Given the description of an element on the screen output the (x, y) to click on. 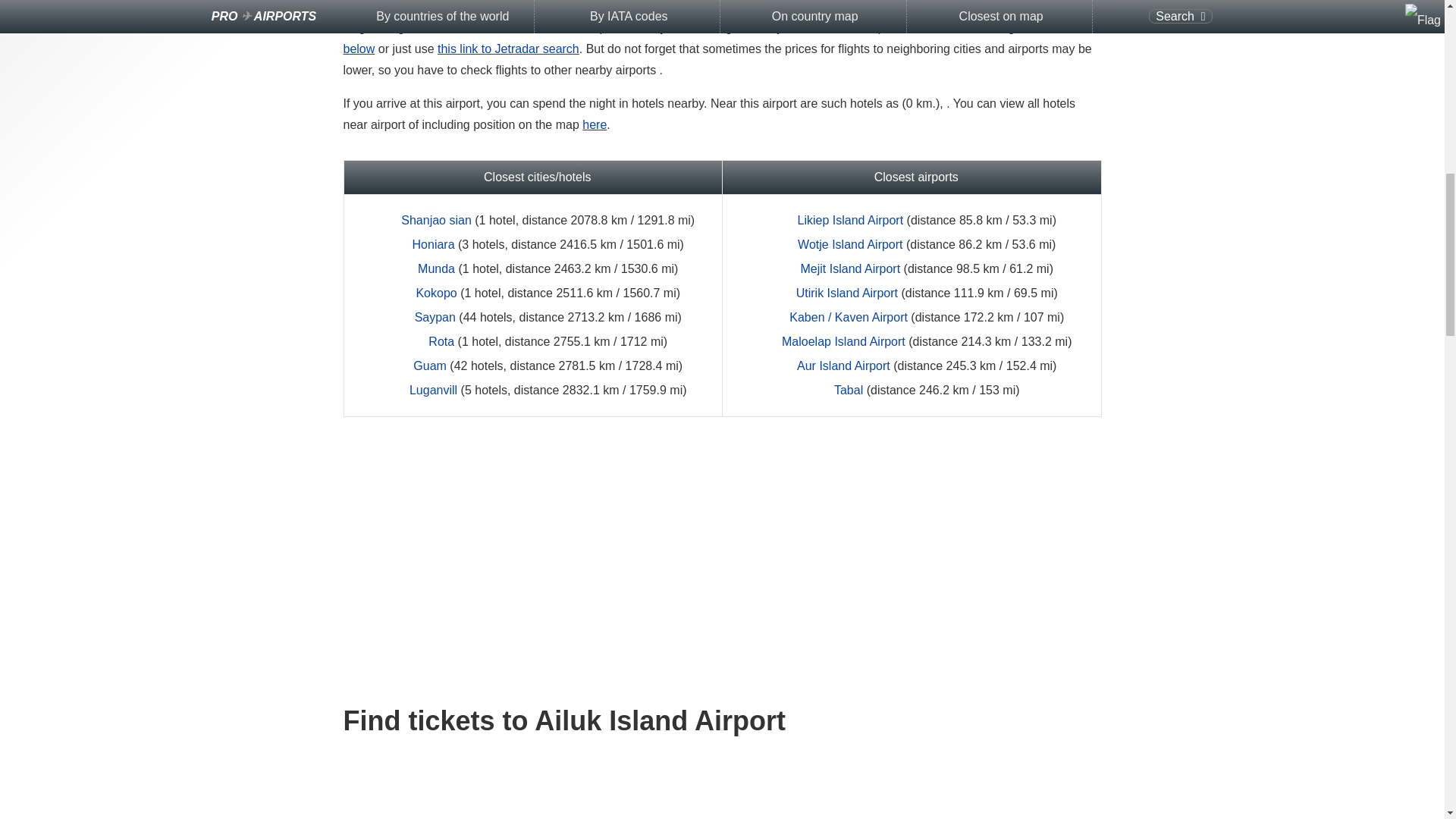
Likiep Island Airport (850, 219)
Utirik Island Airport (847, 292)
Saypan (434, 317)
Wotje Island Airport (849, 244)
Rota (441, 341)
Kokopo (435, 292)
Luganvill (433, 390)
Honiara (433, 244)
search form below (711, 38)
Munda (435, 268)
